Given the description of an element on the screen output the (x, y) to click on. 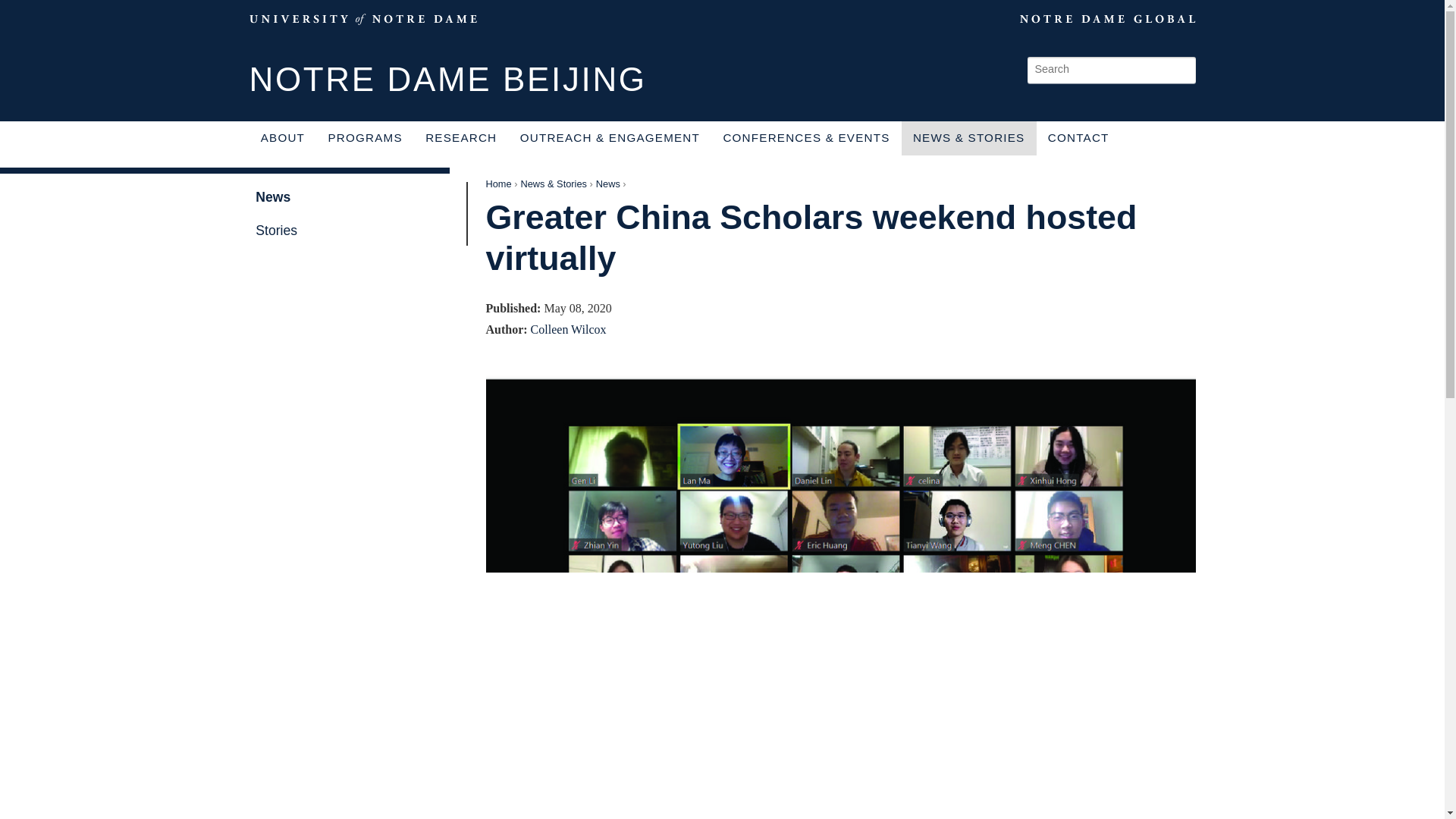
University Notre Dame (362, 18)
PROGRAMS (364, 138)
Home (497, 183)
News (607, 183)
CONTACT (1078, 138)
Notre Dame Global (1072, 18)
Stories (350, 230)
ABOUT (281, 138)
NOTRE DAME BEIJING (447, 80)
News (350, 196)
